Given the description of an element on the screen output the (x, y) to click on. 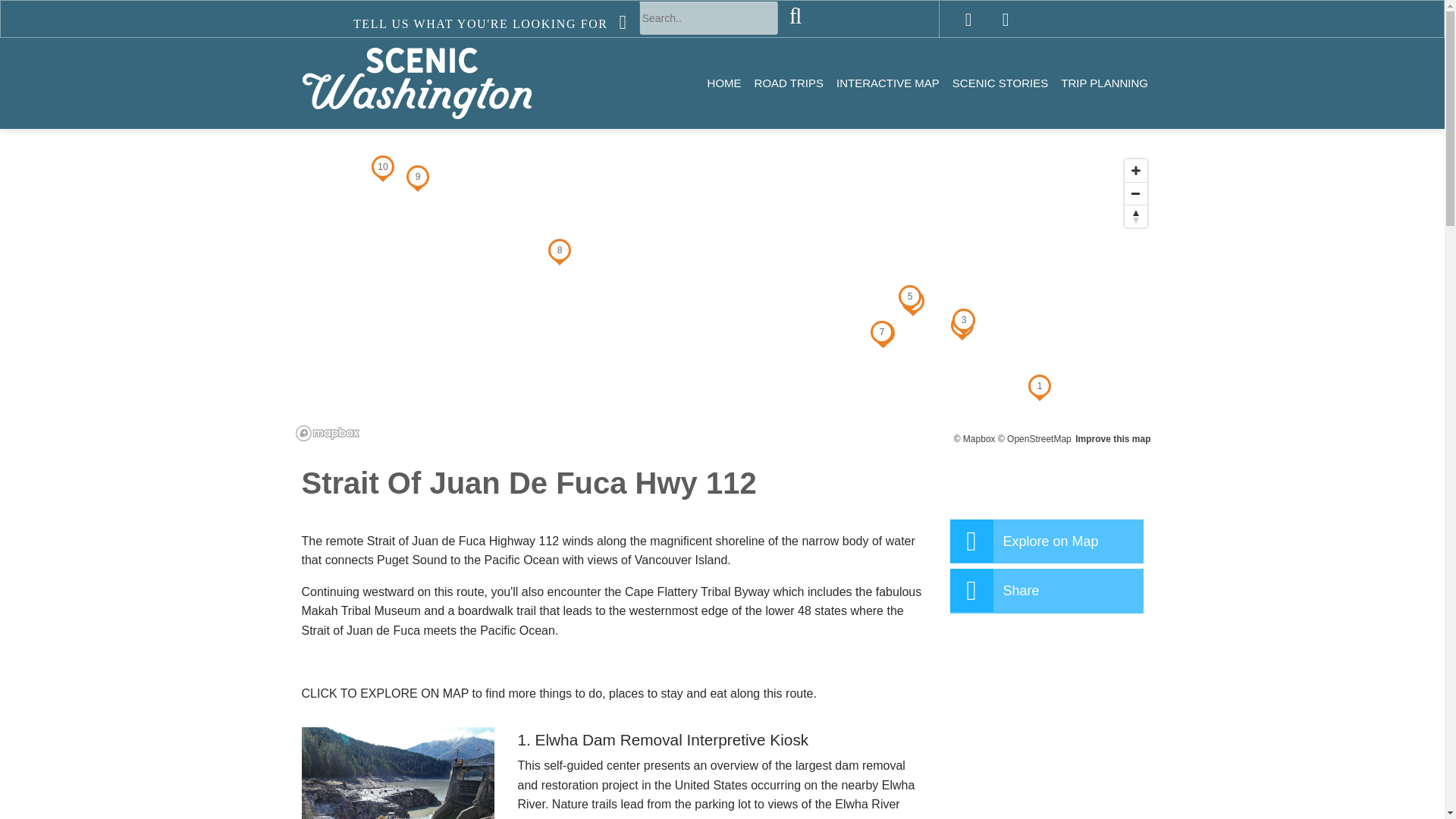
ROAD TRIPS (788, 82)
Cape Flattery Tribal Byway (697, 591)
Mapbox (974, 439)
CLICK TO EXPLORE ON MAP (384, 693)
TRIP PLANNING (1104, 82)
INTERACTIVE MAP (886, 82)
SCENIC STORIES (999, 82)
1. Elwha Dam Removal Interpretive Kiosk (721, 739)
OpenStreetMap (1034, 439)
Improve this map (1112, 439)
HOME (724, 82)
Improve this map (1112, 439)
